Given the description of an element on the screen output the (x, y) to click on. 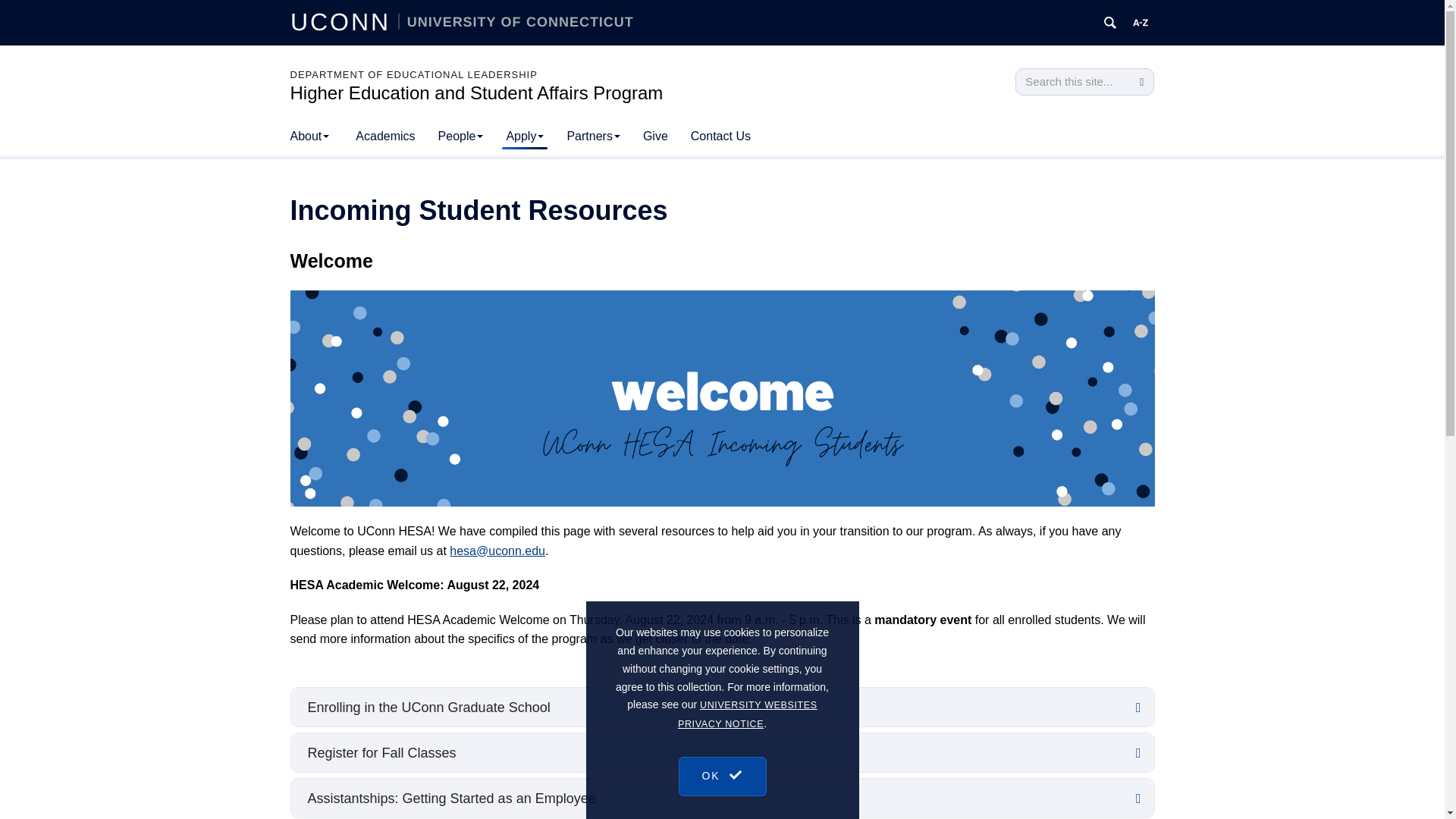
UNIVERSITY OF CONNECTICUT (515, 21)
DEPARTMENT OF EDUCATIONAL LEADERSHIP (413, 74)
Register for Fall Classes (722, 752)
Academics (384, 136)
Search UConn (1109, 22)
UConn A to Z Index (1140, 22)
Contact Us (720, 136)
UNIVERSITY WEBSITES PRIVACY NOTICE (747, 778)
People (460, 136)
OK (721, 814)
Partners (592, 136)
Apply (524, 136)
Give (655, 136)
Search this site...  (1072, 81)
Enrolling in the UConn Graduate School (722, 706)
